Given the description of an element on the screen output the (x, y) to click on. 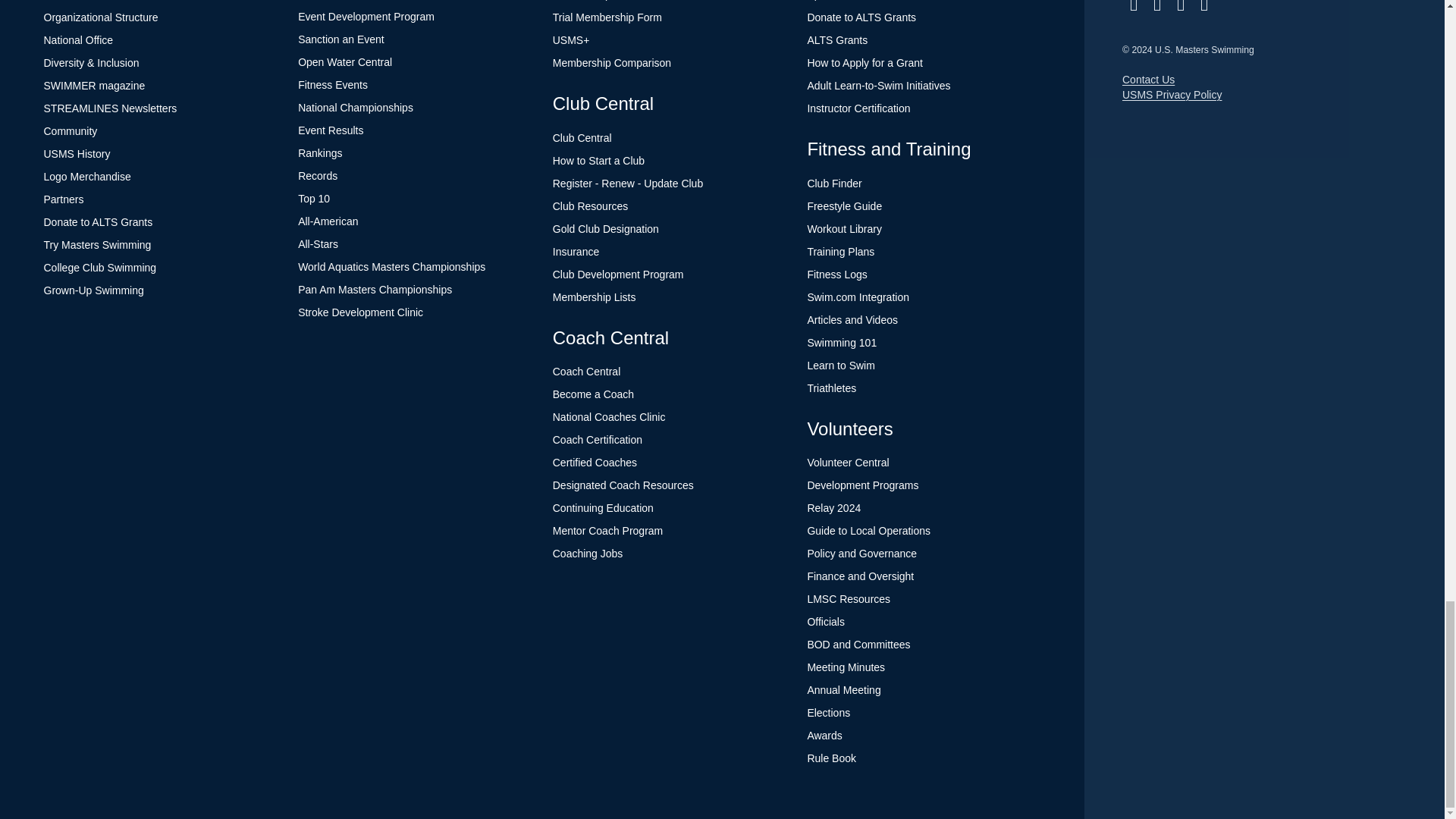
Community (70, 131)
Organizational Structure (100, 17)
Try Masters Swimming  (97, 244)
College Club Swimming (100, 267)
Sanction an Event (341, 39)
Partners (63, 199)
STREAMLINES Newsletters (110, 108)
SWIMMER magazine (94, 85)
USMS History (76, 153)
